Given the description of an element on the screen output the (x, y) to click on. 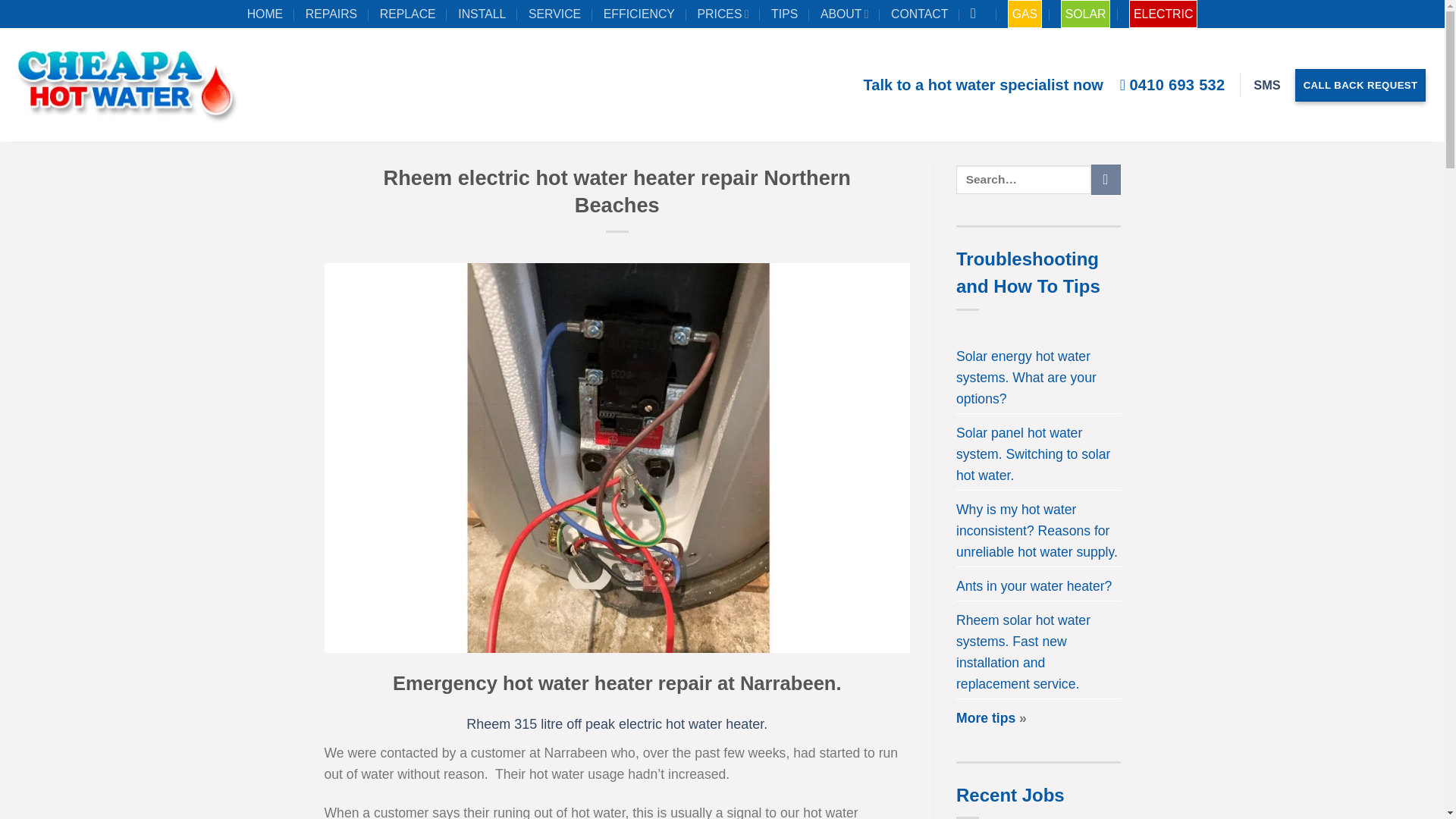
GAS (1024, 13)
INSTALL (483, 13)
Home (266, 13)
ELECTRIC (1162, 13)
PRICES (724, 13)
Cheapa Hot Water Company Sydney (846, 13)
TIPS (786, 13)
ABOUT (846, 13)
SERVICE (556, 13)
0410 693 532 (1172, 84)
